Given the description of an element on the screen output the (x, y) to click on. 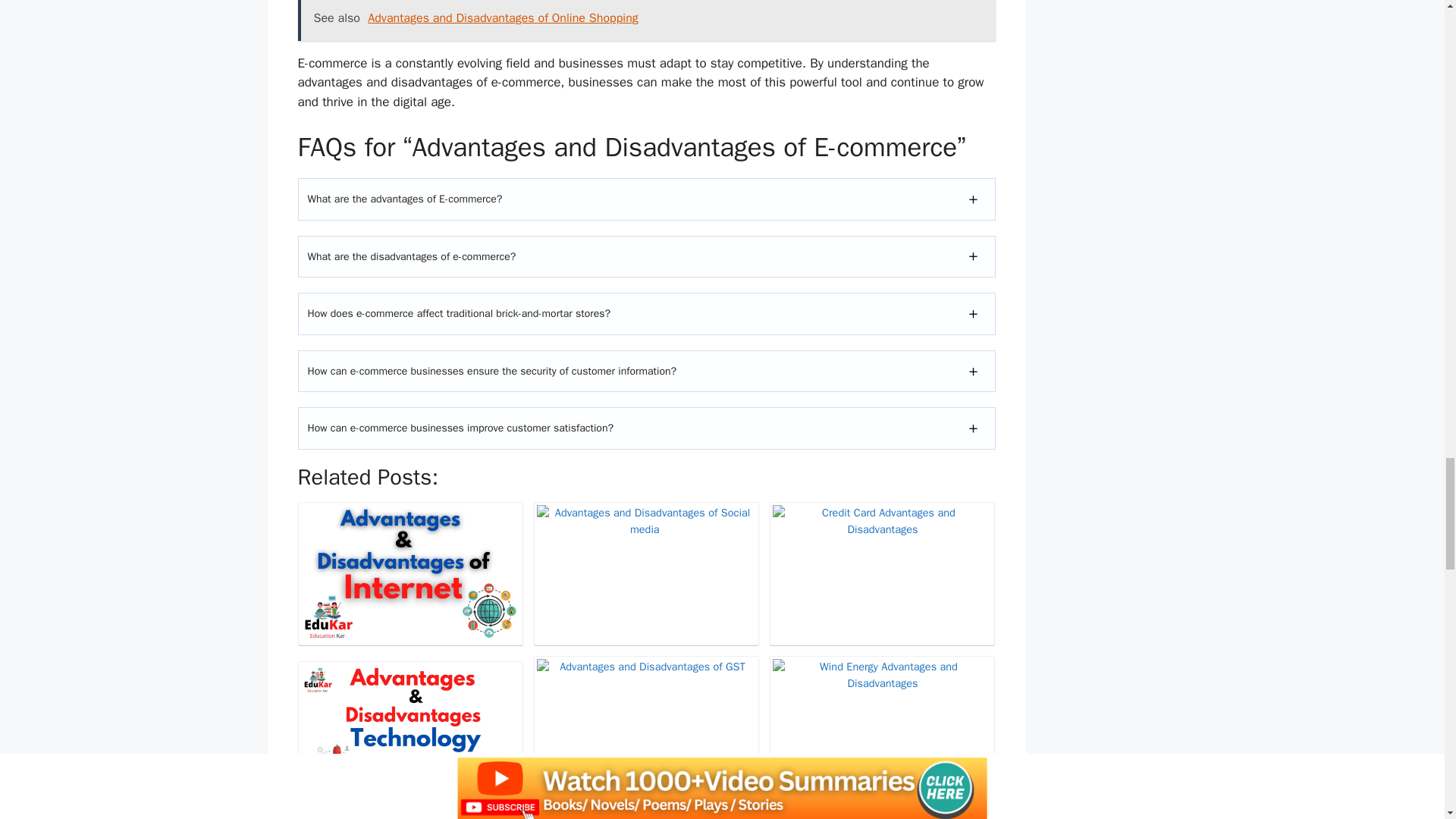
Advantages and Disadvantages of Mobile Phones (646, 816)
Advantages and disadvantages of Internet (409, 573)
Advantages and Disadvantages of Technology (409, 732)
Advantages and Disadvantages of GST (646, 727)
